Given the description of an element on the screen output the (x, y) to click on. 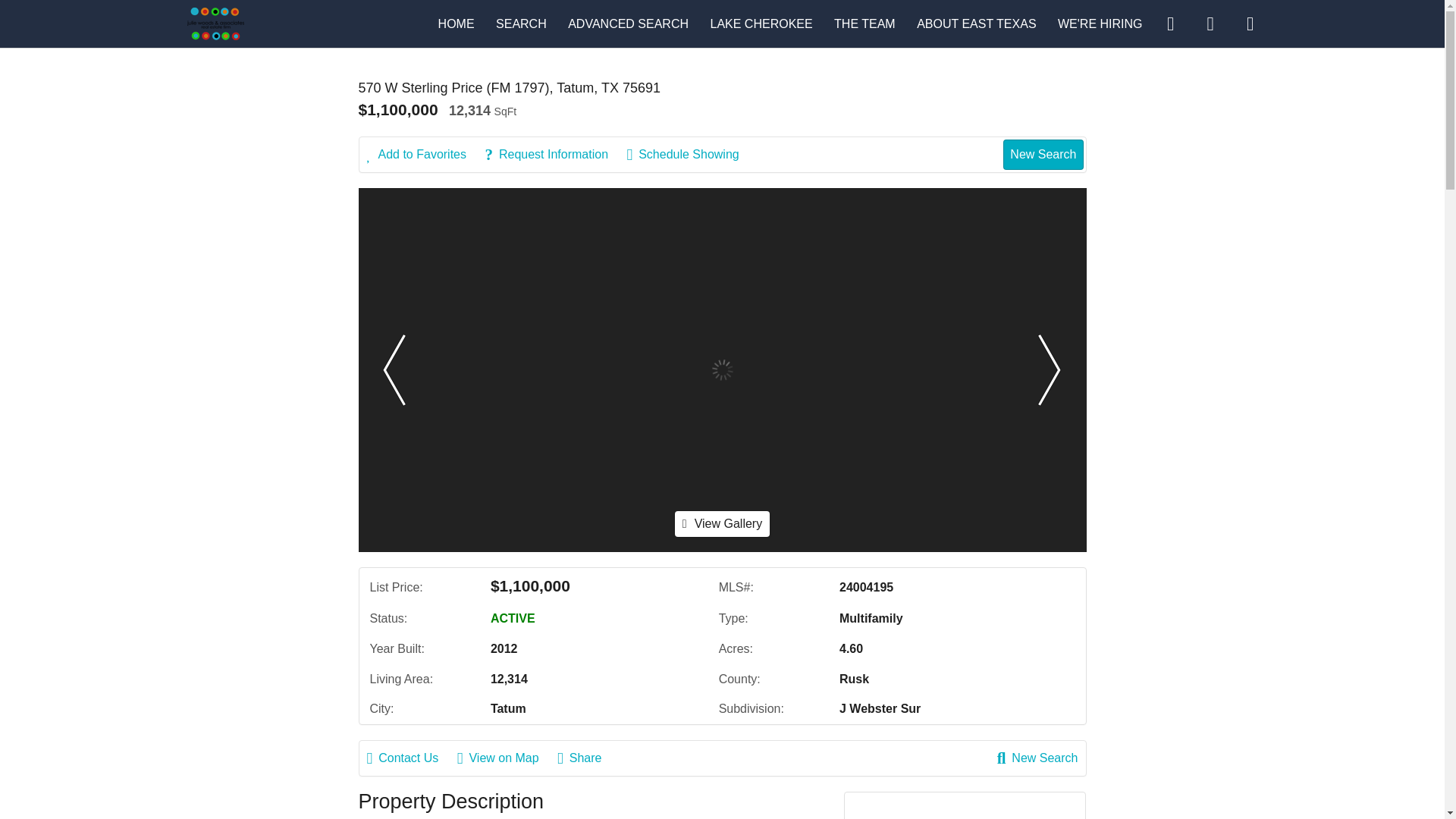
LAKE CHEROKEE (761, 23)
New Search (1043, 154)
Contact Us (410, 757)
View Gallery (722, 522)
Request Information (553, 154)
ABOUT EAST TEXAS (976, 23)
Schedule Showing (690, 154)
Add to Favorites (423, 154)
Share (586, 757)
WE'RE HIRING (1100, 23)
